Given the description of an element on the screen output the (x, y) to click on. 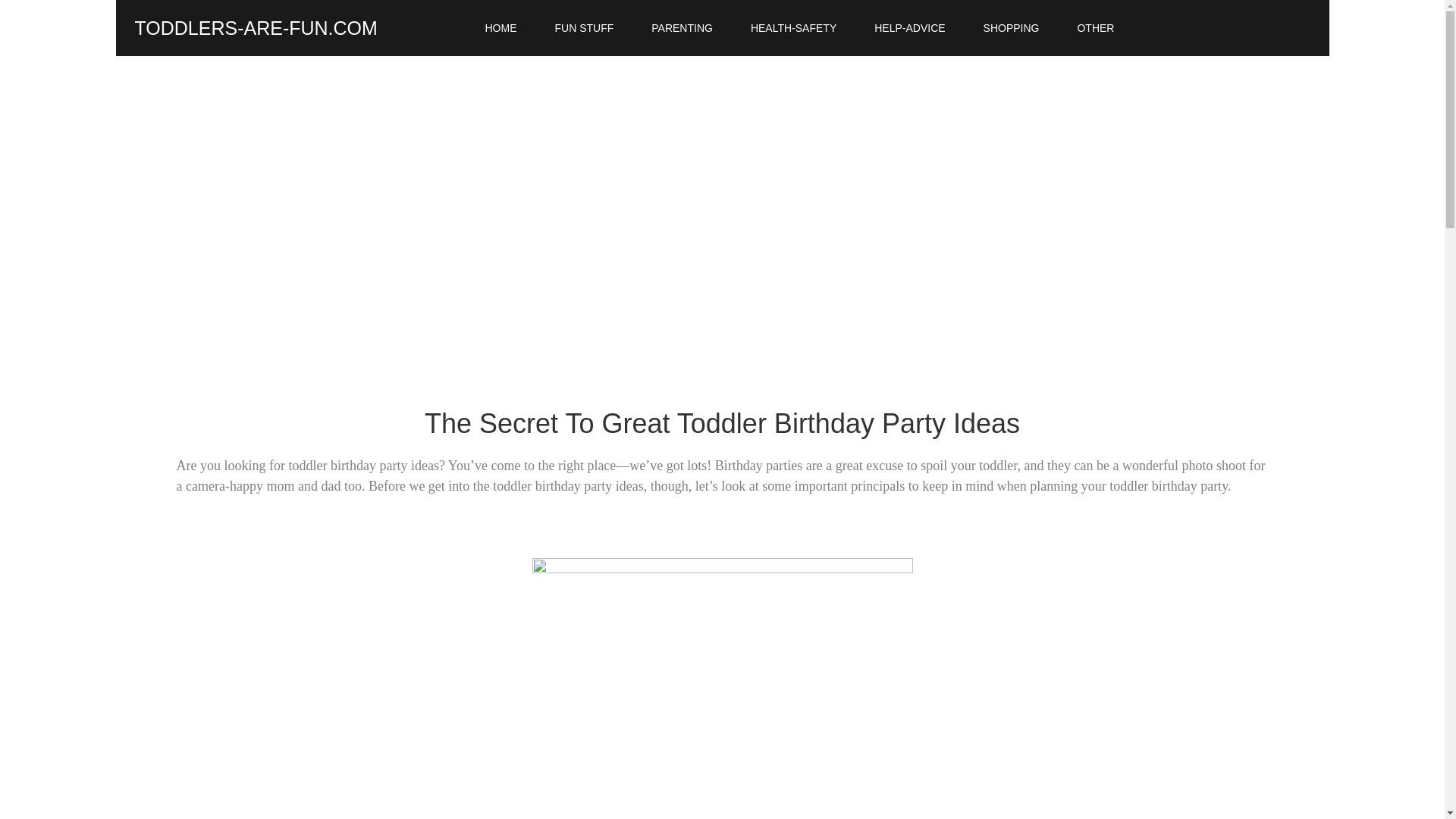
TODDLERS-ARE-FUN.COM (256, 27)
HOME (500, 27)
